Given the description of an element on the screen output the (x, y) to click on. 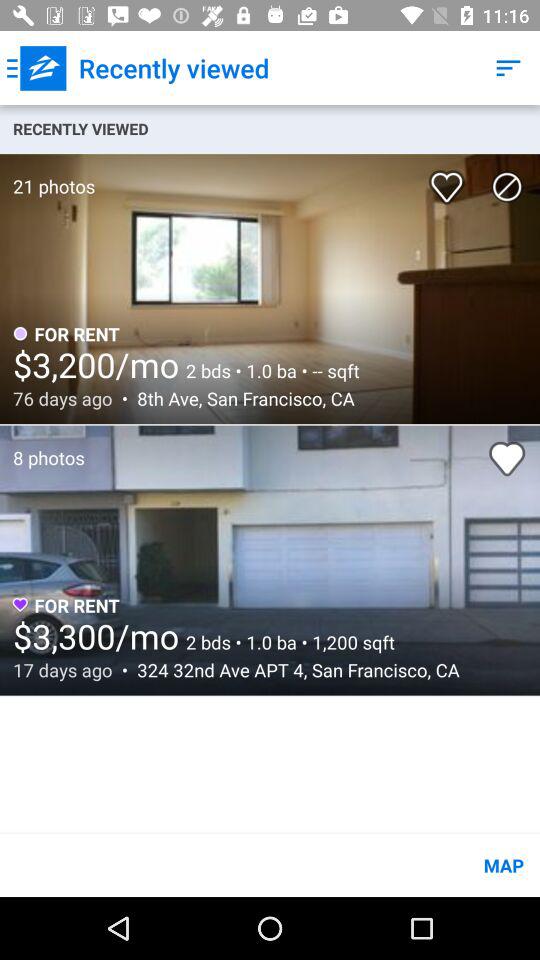
press the item to the right of the 17 days ago icon (292, 669)
